Given the description of an element on the screen output the (x, y) to click on. 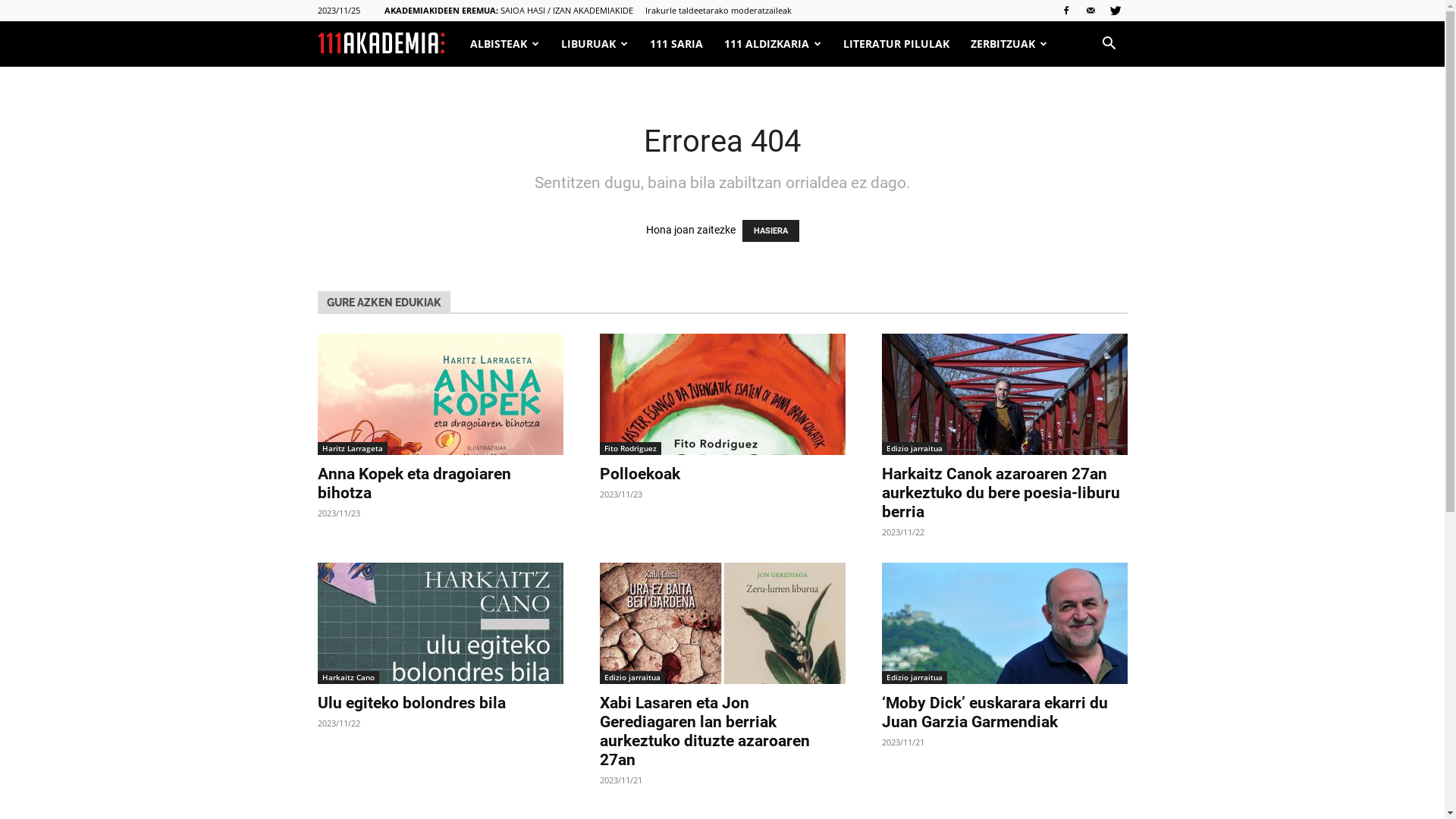
Ulu egiteko bolondres bila Element type: text (410, 702)
HASIERA Element type: text (769, 230)
Twitter Element type: hover (1115, 10)
Bilatu Element type: text (1086, 109)
Edizio jarraitua Element type: text (913, 448)
ALBISTEAK Element type: text (504, 43)
Fito Rodriguez Element type: text (629, 448)
111 Akademia Element type: text (387, 44)
Ulu egiteko bolondres bila Element type: hover (439, 623)
Polloekoak Element type: text (639, 473)
Polloekoak Element type: hover (721, 394)
Edizio jarraitua Element type: text (913, 677)
ZERBITZUAK Element type: text (1009, 43)
Haritz Larrageta Element type: text (351, 448)
Anna Kopek eta dragoiaren bihotza Element type: hover (439, 394)
111 SARIA Element type: text (675, 43)
Mail Element type: hover (1090, 10)
Facebook Element type: hover (1065, 10)
Anna Kopek eta dragoiaren bihotza Element type: text (413, 483)
Harkaitz Cano Element type: text (347, 677)
Edizio jarraitua Element type: text (631, 677)
111 Akademia Element type: hover (379, 44)
111 ALDIZKARIA Element type: text (771, 43)
Irakurle taldeetarako moderatzaileak Element type: text (717, 9)
AKADEMIAKIDEEN EREMUA: SAIOA HASI / IZAN AKADEMIAKIDE Element type: text (507, 9)
LIBURUAK Element type: text (594, 43)
LITERATUR PILULAK Element type: text (896, 43)
